Given the description of an element on the screen output the (x, y) to click on. 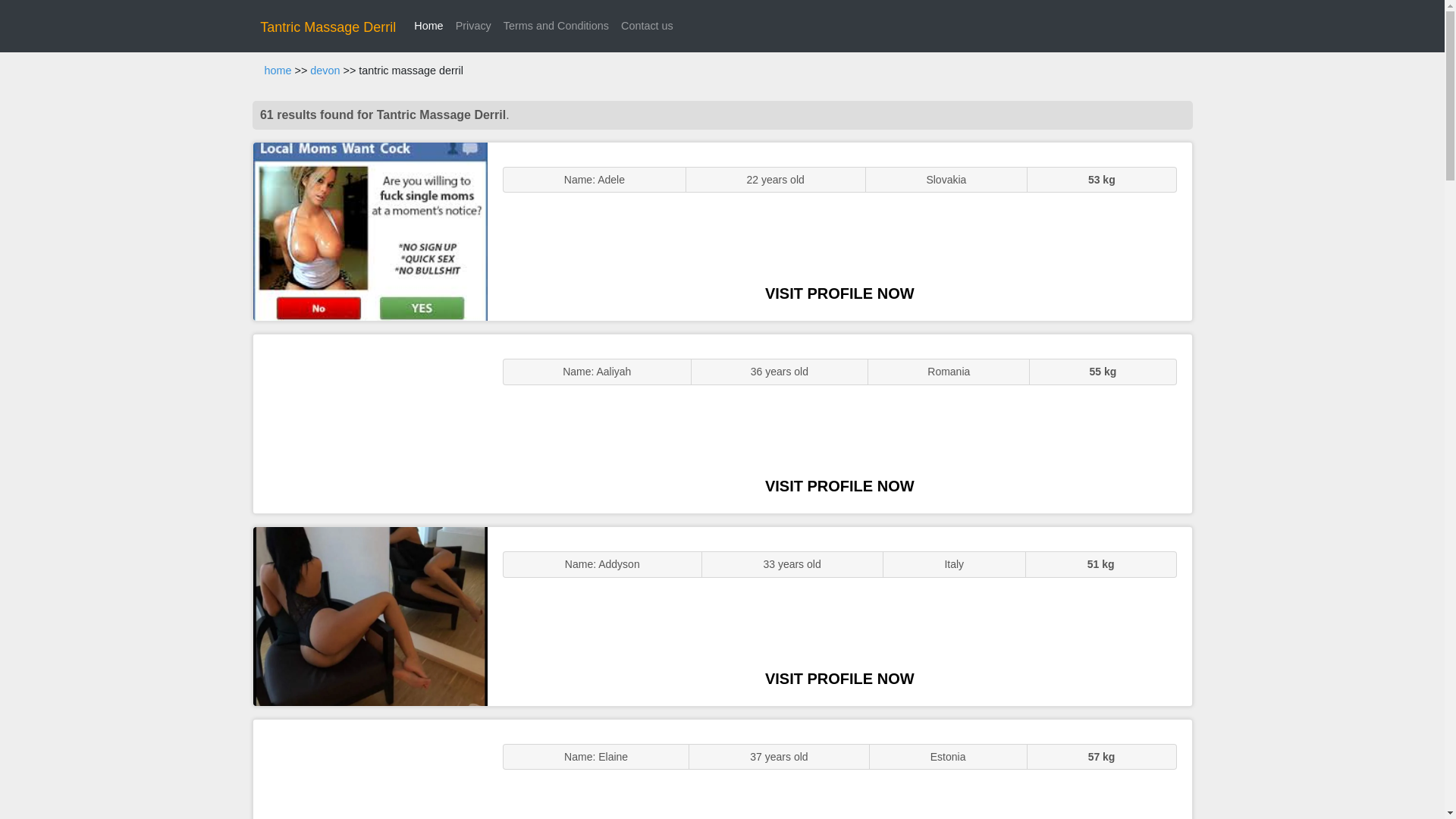
devon (324, 70)
home (277, 70)
Tantric Massage Derril (328, 27)
VISIT PROFILE NOW (839, 485)
GFE (370, 423)
VISIT PROFILE NOW (839, 293)
VISIT PROFILE NOW (839, 678)
Sluts (370, 769)
 ENGLISH STUNNER (370, 231)
Privacy (473, 25)
Sexy (370, 616)
Contact us (646, 25)
Terms and Conditions (555, 25)
